Given the description of an element on the screen output the (x, y) to click on. 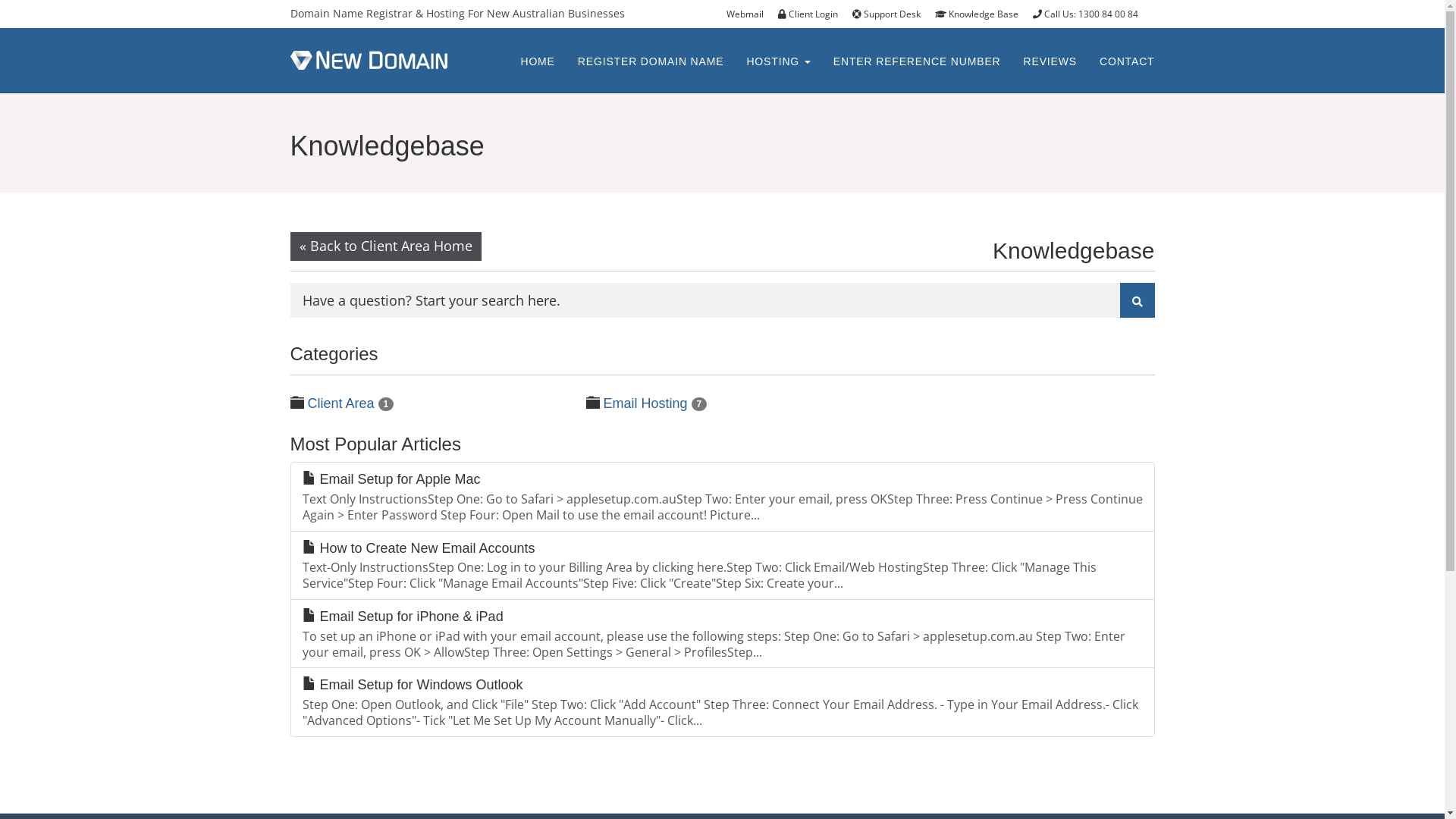
Support Desk Element type: text (891, 13)
ENTER REFERENCE NUMBER Element type: text (917, 61)
Email Hosting Element type: text (645, 403)
REVIEWS Element type: text (1050, 61)
Knowledge Base Element type: text (981, 13)
Call Us: 1300 84 00 84 Element type: text (1090, 13)
HOSTING Element type: text (777, 61)
REGISTER DOMAIN NAME Element type: text (650, 61)
Webmail Element type: text (748, 13)
Client Area Element type: text (340, 403)
Client Login Element type: text (813, 13)
CONTACT Element type: text (1127, 61)
HOME Element type: text (536, 61)
